Given the description of an element on the screen output the (x, y) to click on. 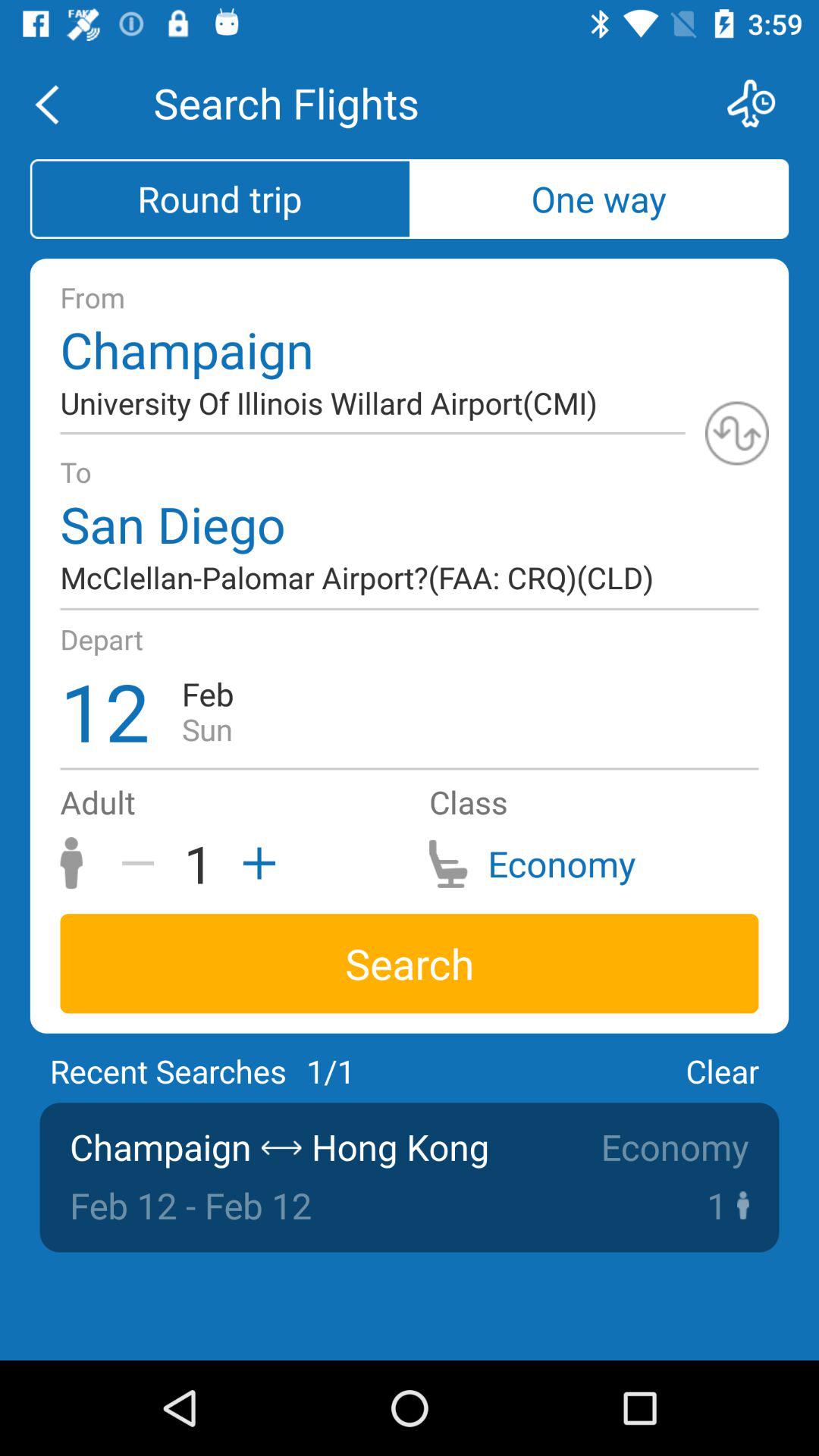
launch icon above search icon (254, 863)
